Given the description of an element on the screen output the (x, y) to click on. 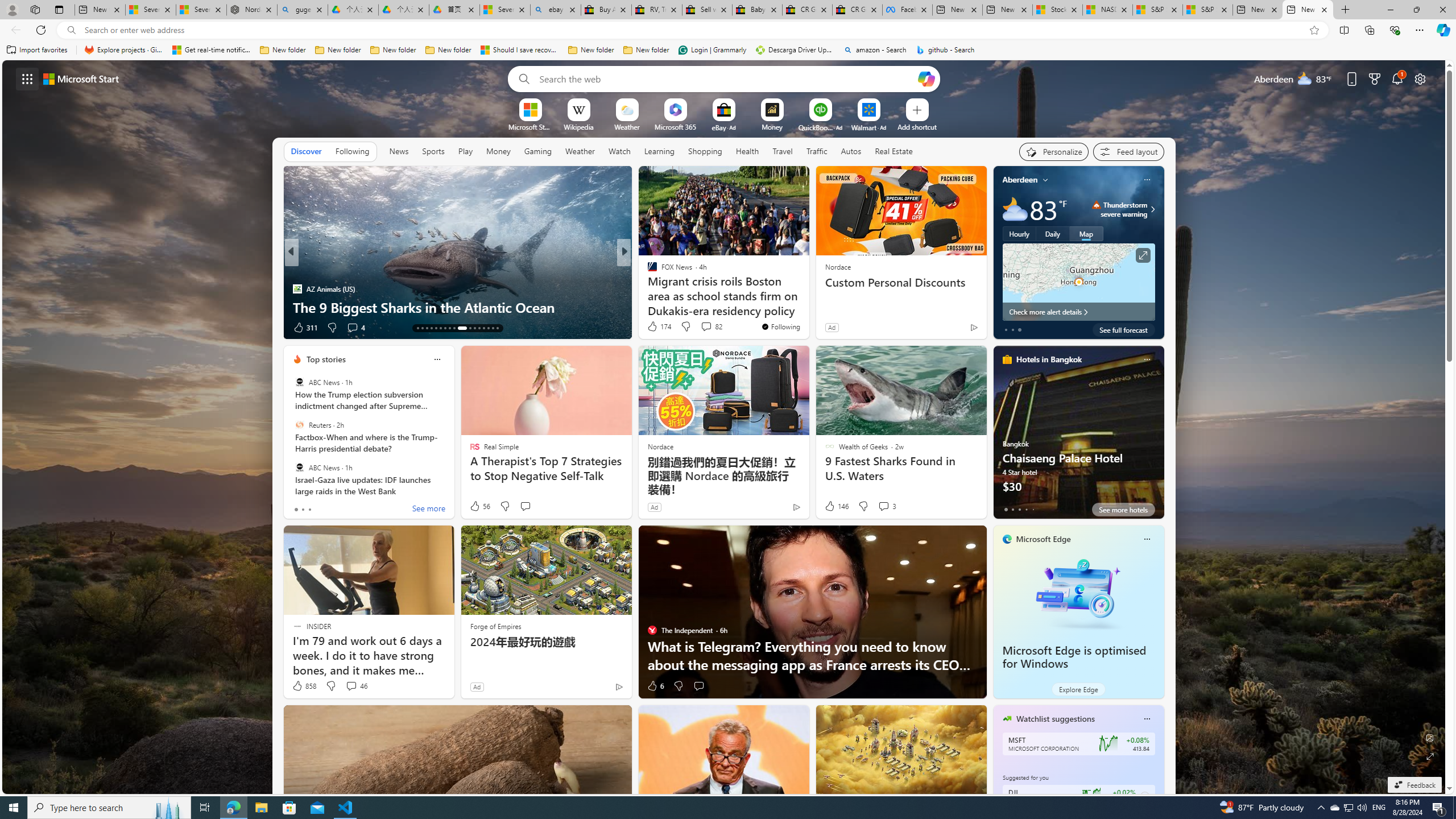
Mostly cloudy (1014, 208)
See more hotels (1123, 509)
Class: control (27, 78)
Enter your search term (726, 78)
Descarga Driver Updater (794, 49)
Should I save recovered Word documents? - Microsoft Support (519, 49)
New folder (646, 49)
Autos (851, 151)
Personalize your feed" (1054, 151)
Microsoft Edge is optimised for Windows (1077, 592)
Search icon (70, 29)
News (398, 151)
Microsoft Edge (1043, 538)
